Given the description of an element on the screen output the (x, y) to click on. 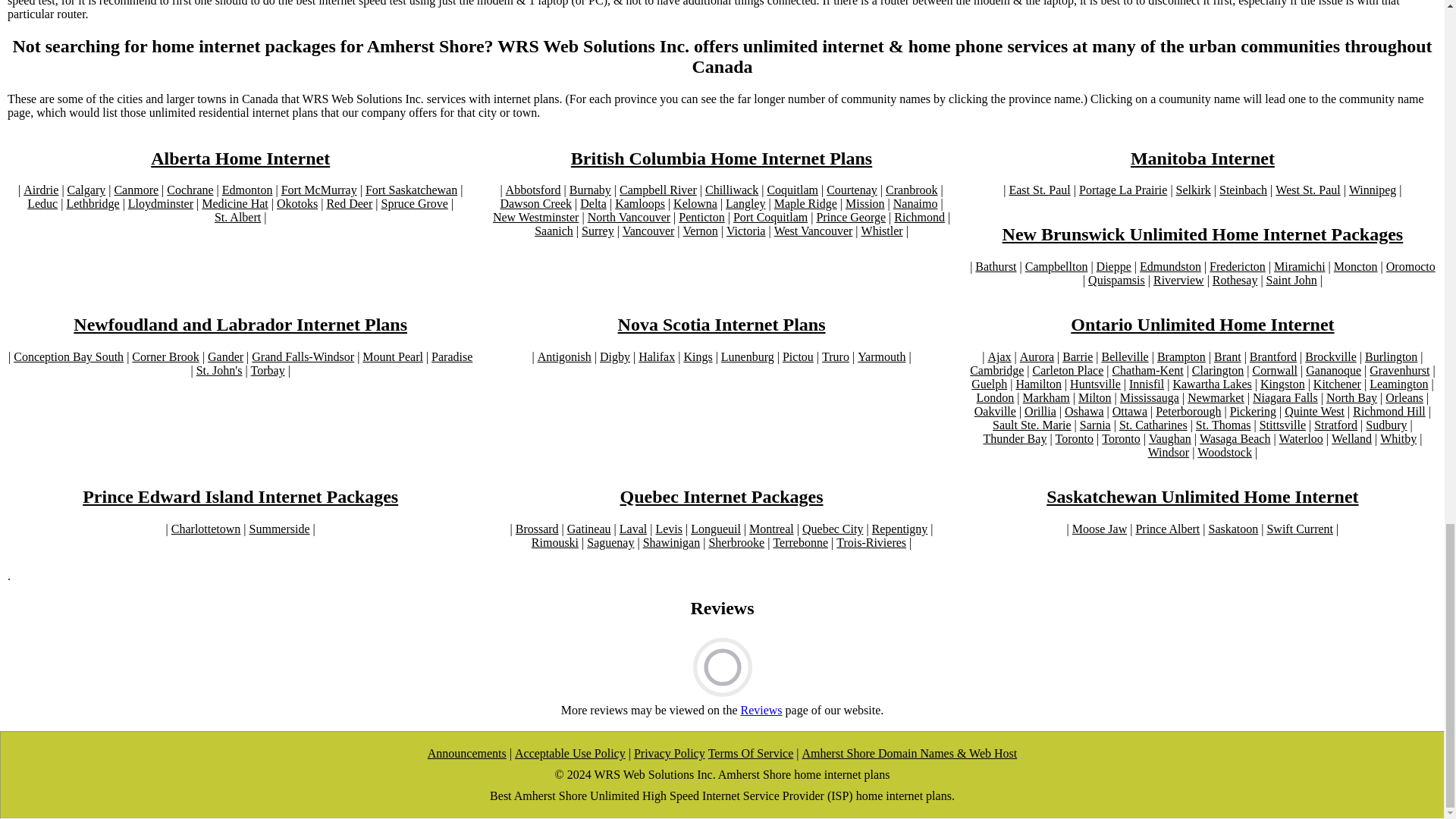
Fort Saskatchewan (411, 190)
Red Deer (349, 203)
Leduc (42, 203)
Alberta Home Internet (240, 158)
Okotoks (296, 203)
Cochrane (189, 190)
Canmore (135, 190)
Lloydminster (160, 203)
Spruce Grove (413, 203)
Campbell River (658, 190)
